Given the description of an element on the screen output the (x, y) to click on. 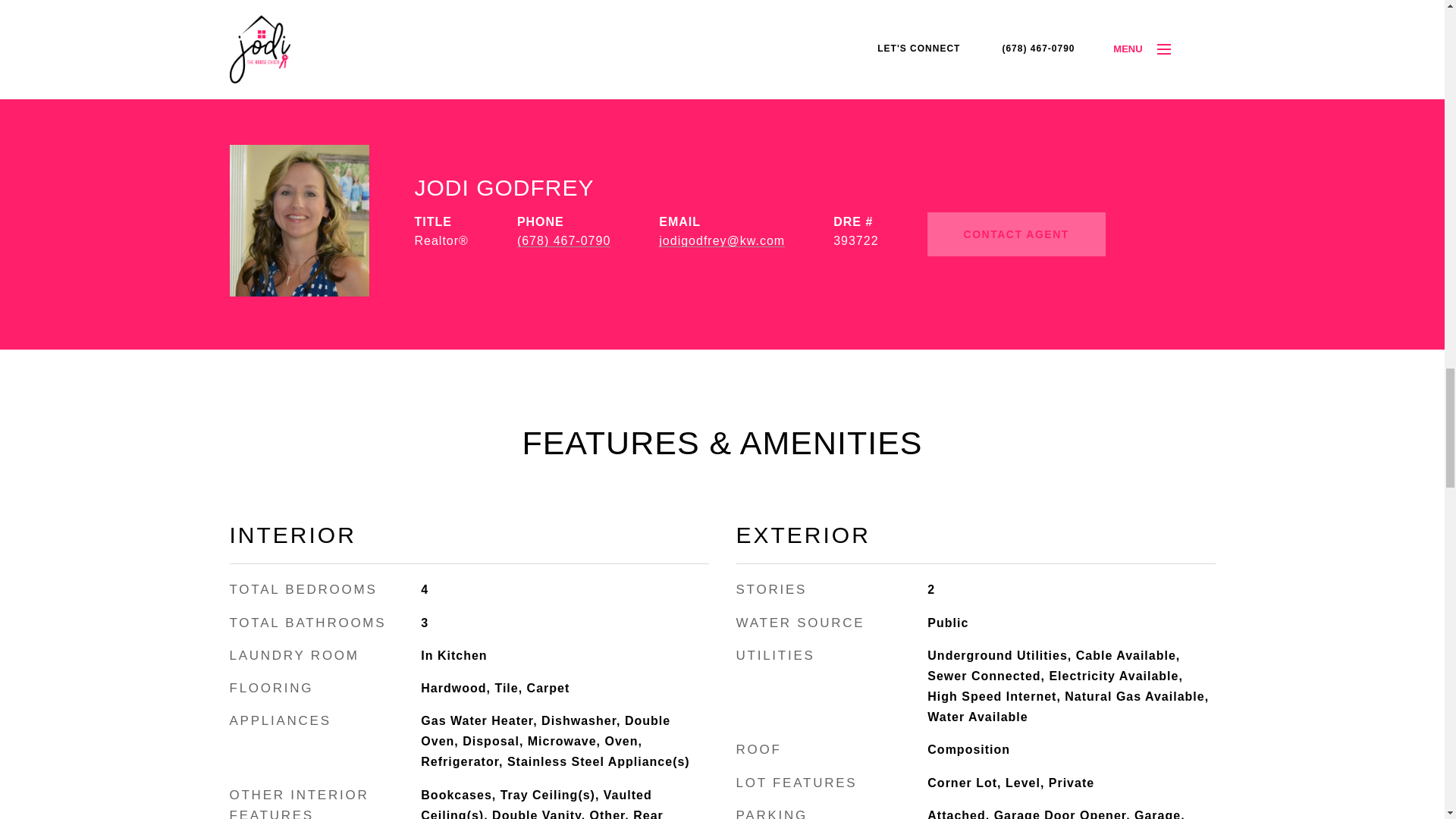
CONTACT AGENT (1016, 234)
WATCH VIDEO (721, 9)
